Given the description of an element on the screen output the (x, y) to click on. 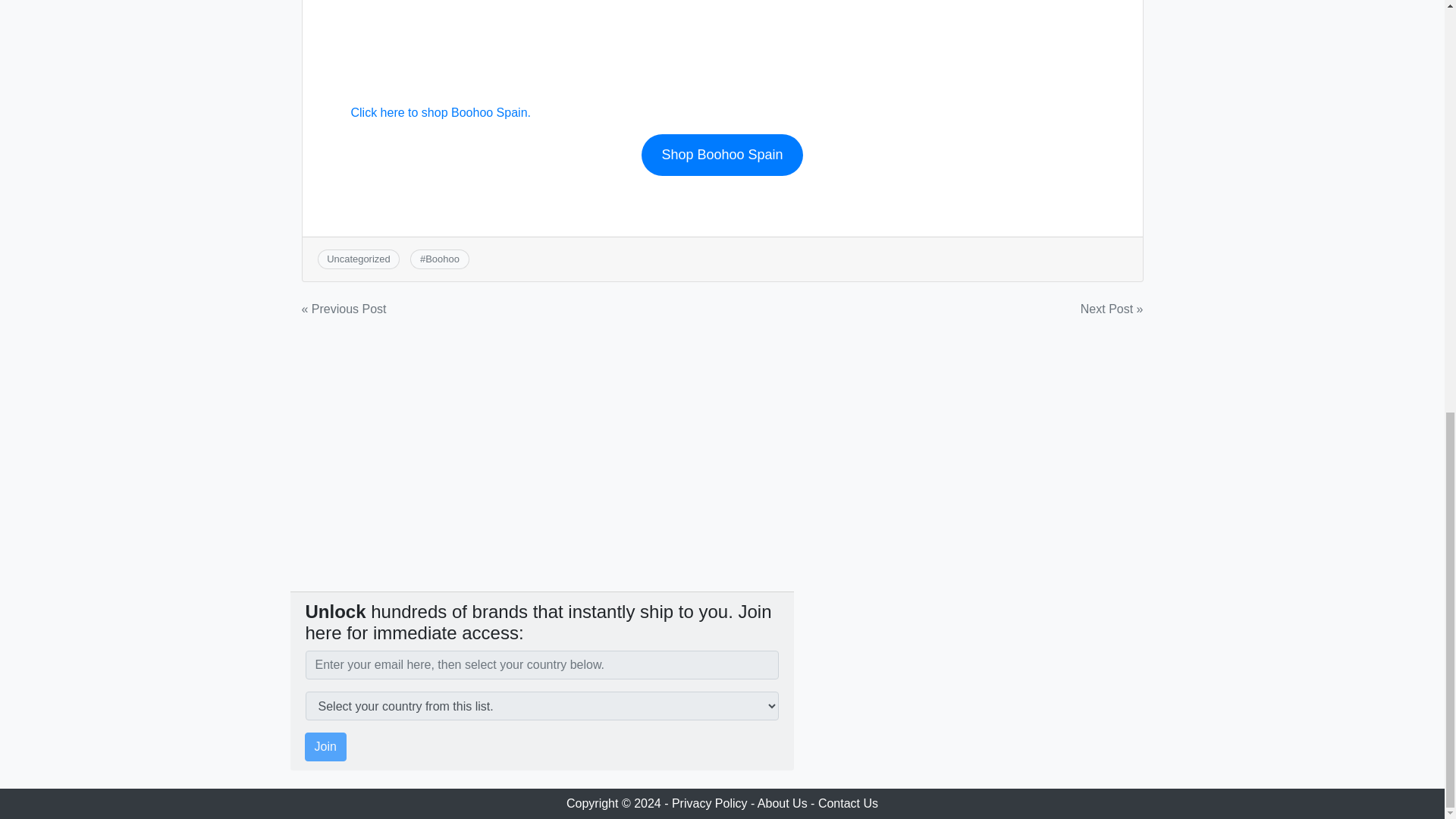
Boohoo (442, 258)
Join (325, 746)
Contact Us (847, 802)
Click here to shop Boohoo Spain. (439, 112)
Shop Boohoo Spain (722, 155)
Privacy Policy (709, 802)
About Us (782, 802)
Uncategorized (358, 258)
